Given the description of an element on the screen output the (x, y) to click on. 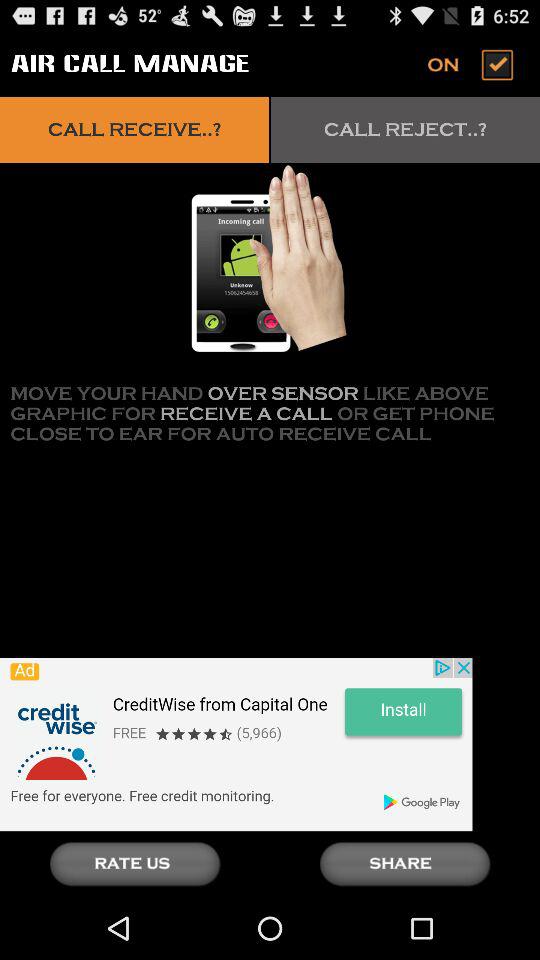
share app (405, 863)
